Given the description of an element on the screen output the (x, y) to click on. 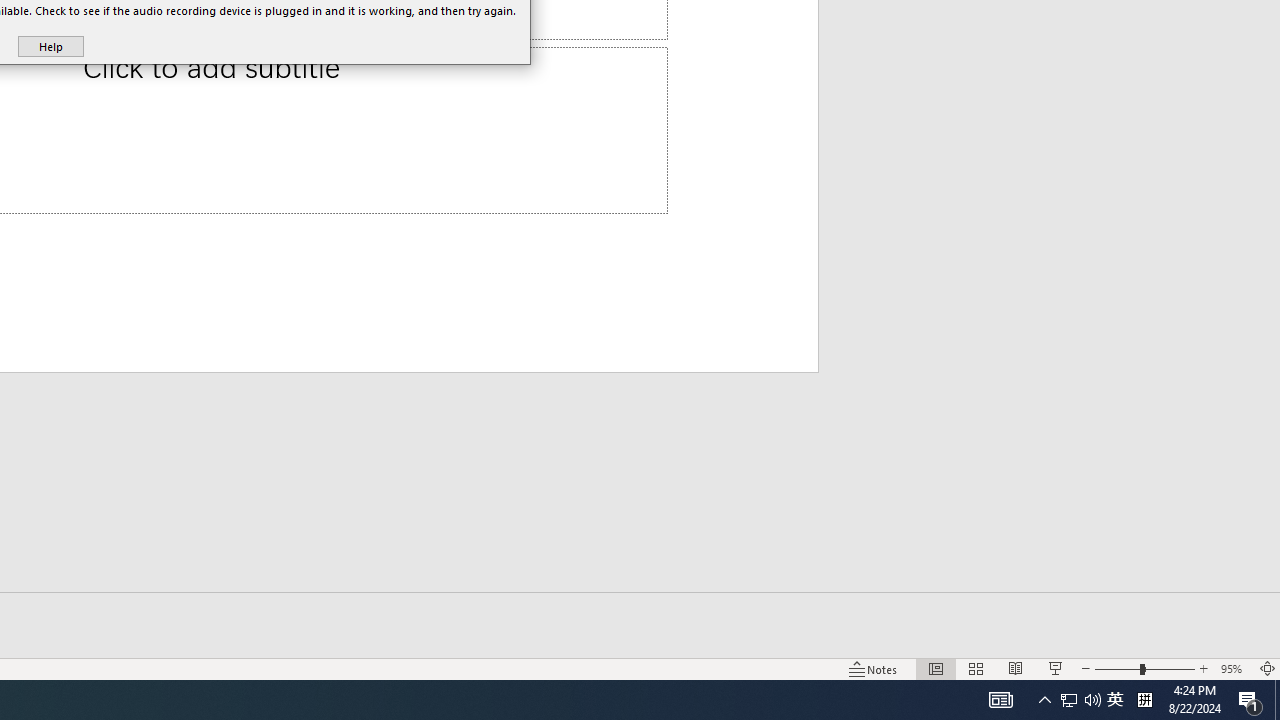
Zoom 95% (1234, 668)
